Given the description of an element on the screen output the (x, y) to click on. 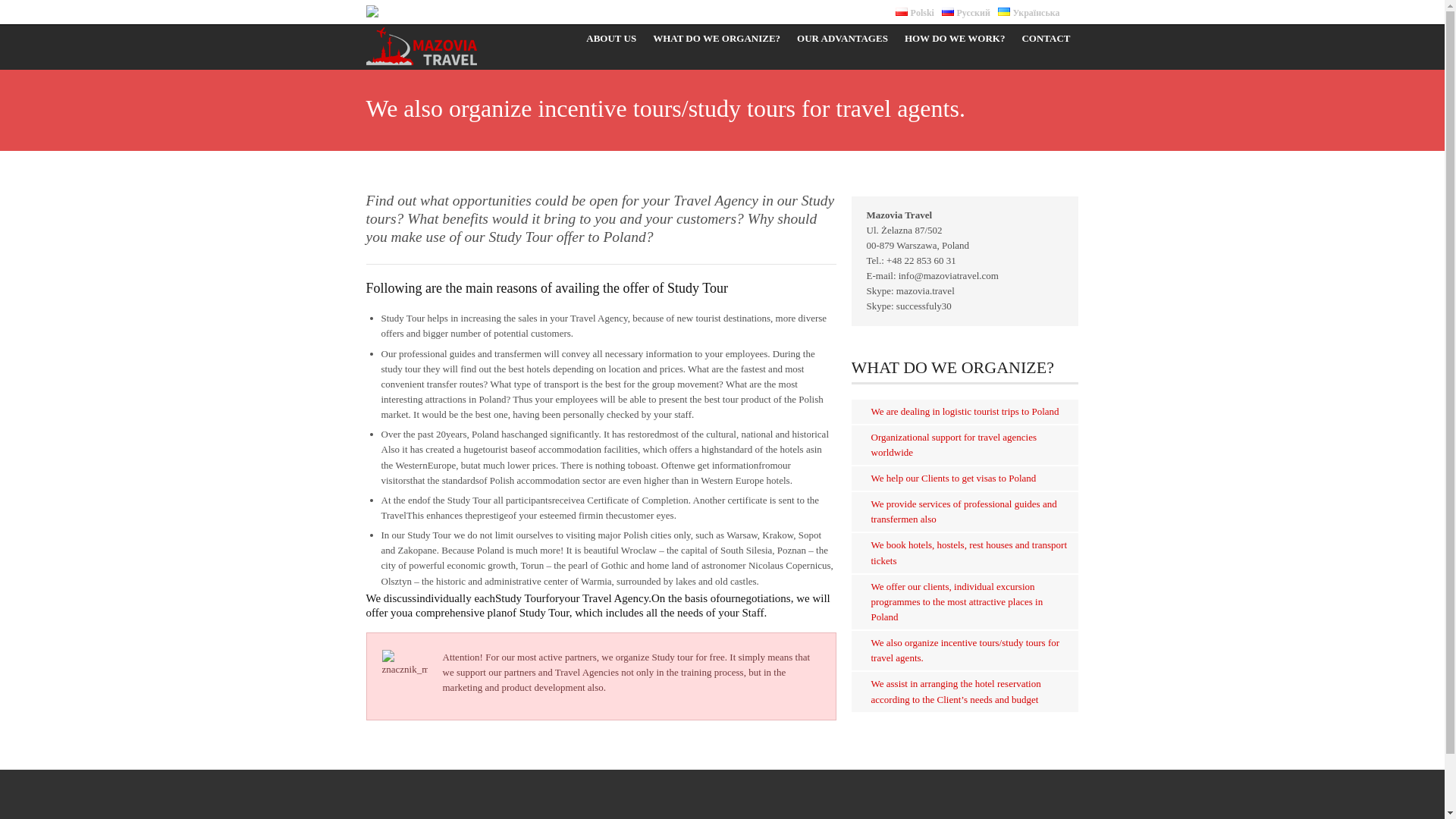
CONTACT (1045, 38)
Polski (901, 11)
We are dealing in logistic tourist trips to Poland (964, 410)
OUR ADVANTAGES (842, 38)
We help our Clients to get visas to Poland (952, 478)
WHAT DO WE ORGANIZE? (717, 38)
HOW DO WE WORK? (954, 38)
We book hotels, hostels, rest houses and transport tickets (968, 551)
Polski (914, 12)
ABOUT US (611, 38)
